Given the description of an element on the screen output the (x, y) to click on. 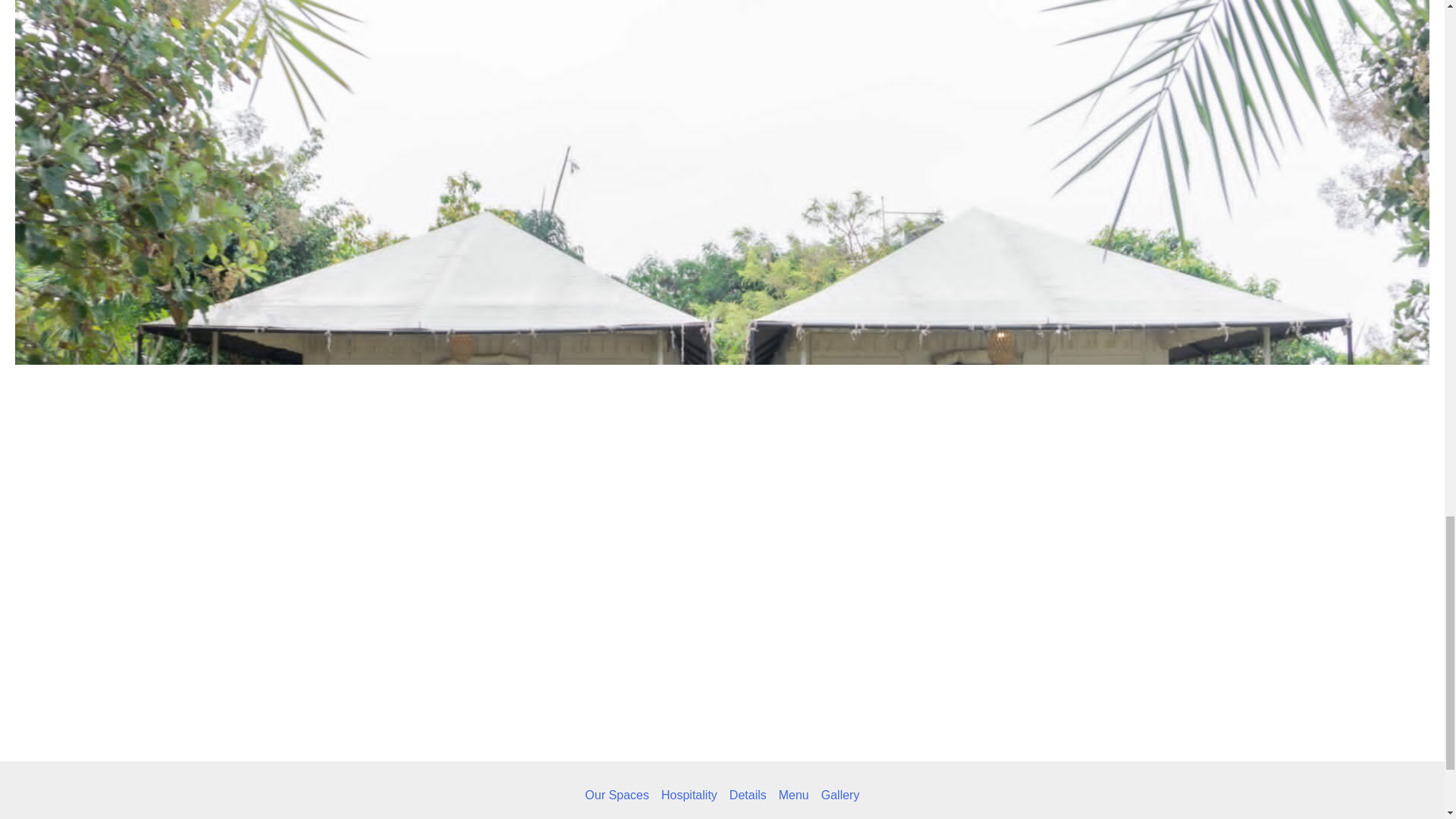
Details (748, 794)
Gallery (837, 794)
Our Spaces (620, 794)
Menu (794, 794)
Hospitality (689, 794)
